Given the description of an element on the screen output the (x, y) to click on. 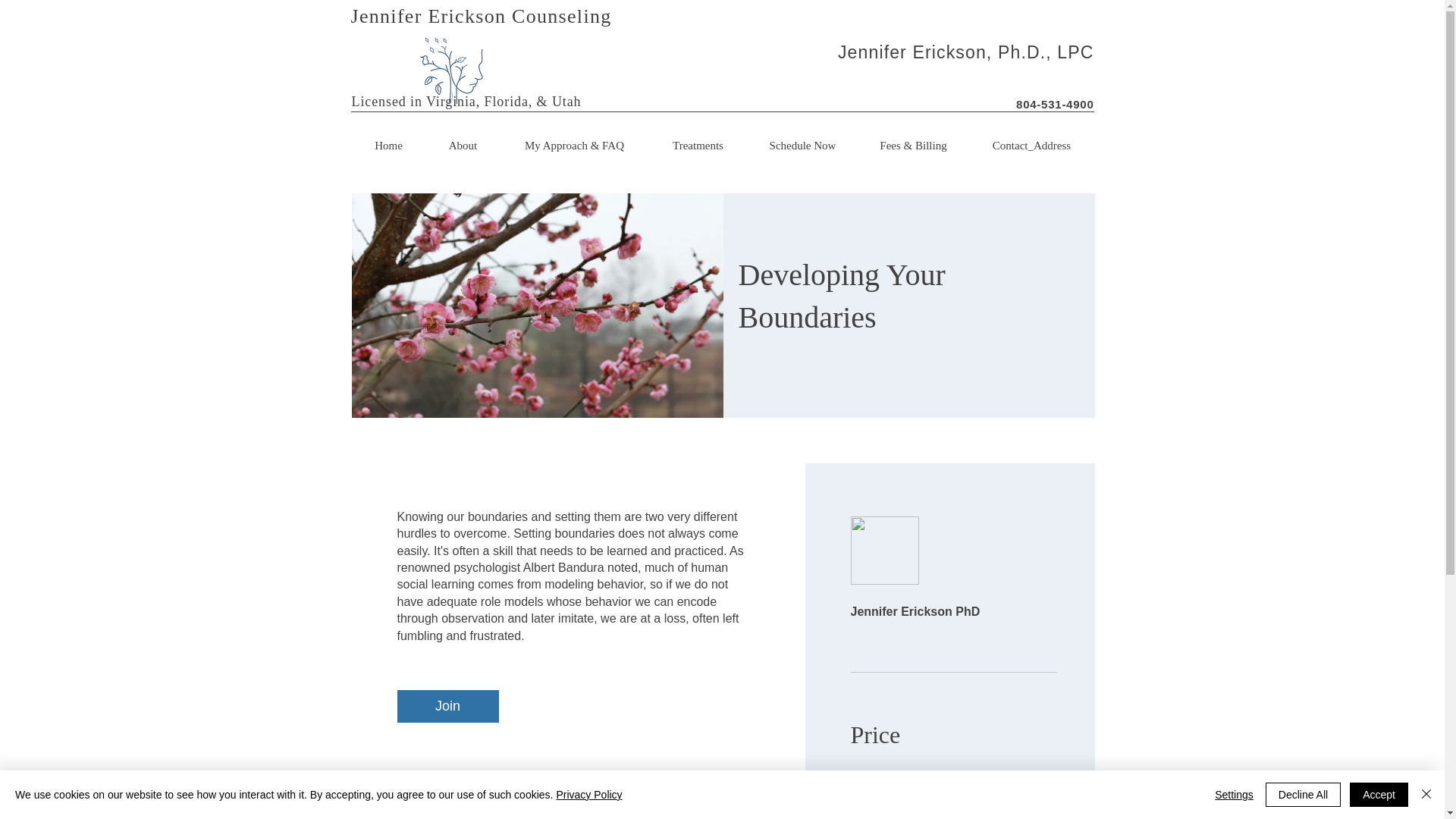
About (463, 145)
804-531-4900 (1054, 103)
Jennifer Erickson, Ph.D., LPC (966, 52)
Jennifer Erickson PhD (953, 571)
Accept (1378, 794)
Jennifer Erickson Counseling (480, 15)
Schedule Now (803, 145)
Decline All (1302, 794)
Home (389, 145)
Treatments (698, 145)
